Given the description of an element on the screen output the (x, y) to click on. 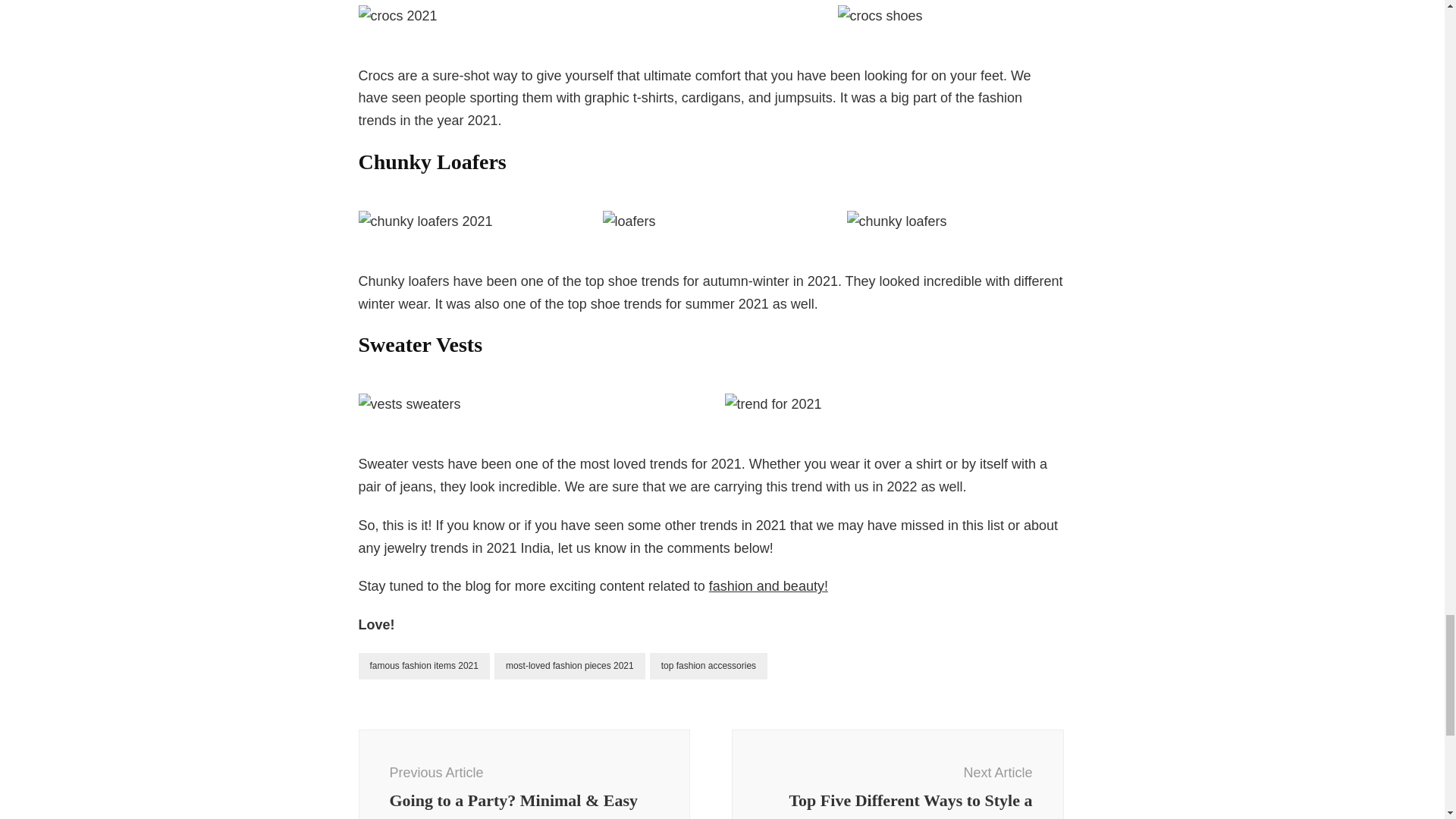
famous fashion items 2021 (423, 665)
top fashion accessories (708, 665)
most-loved fashion pieces 2021 (570, 665)
fashion and beauty! (768, 585)
